Given the description of an element on the screen output the (x, y) to click on. 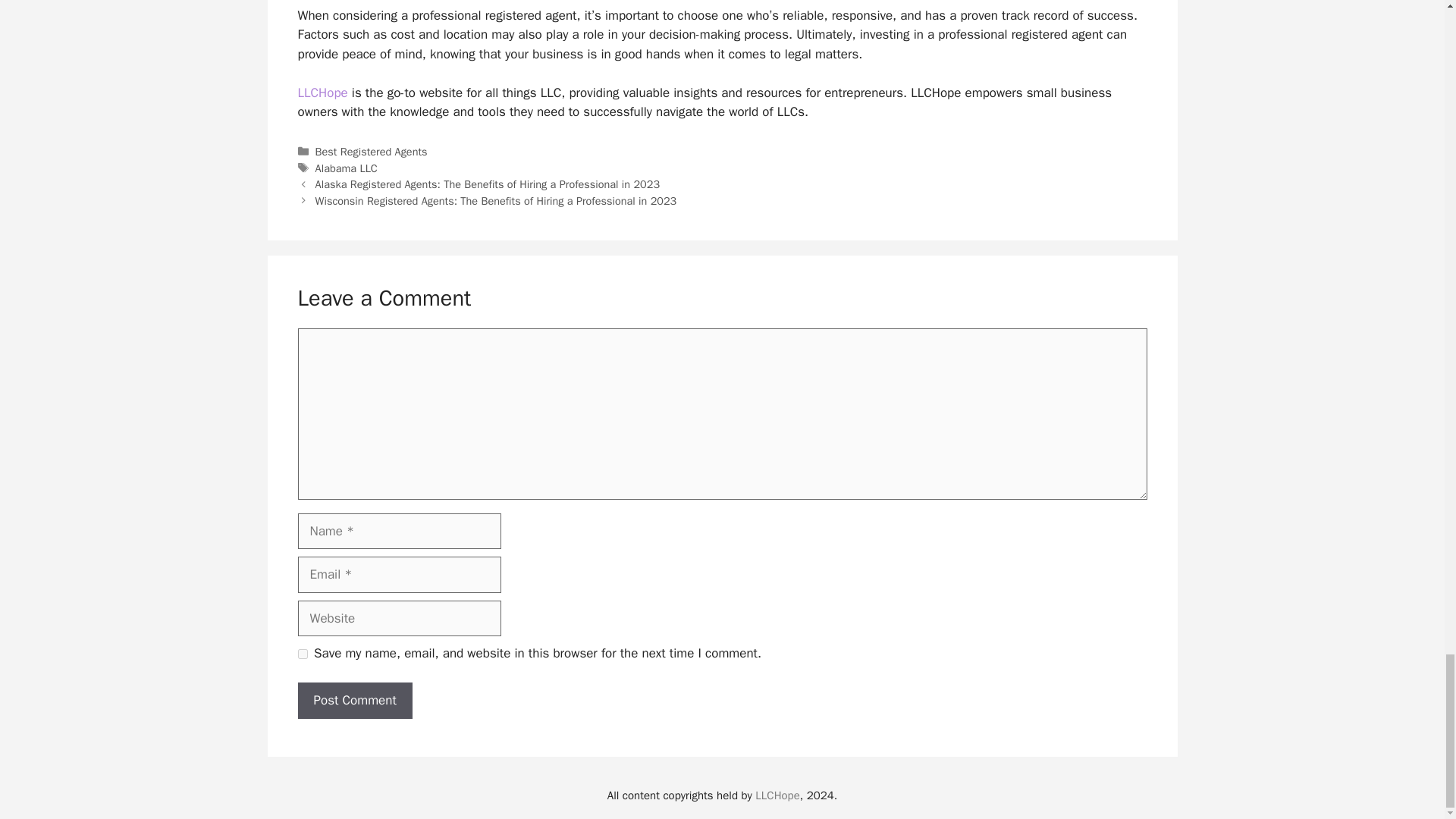
yes (302, 654)
LLCHope (322, 92)
Best Registered Agents (371, 151)
LLCHope (322, 92)
Post Comment (354, 700)
